Given the description of an element on the screen output the (x, y) to click on. 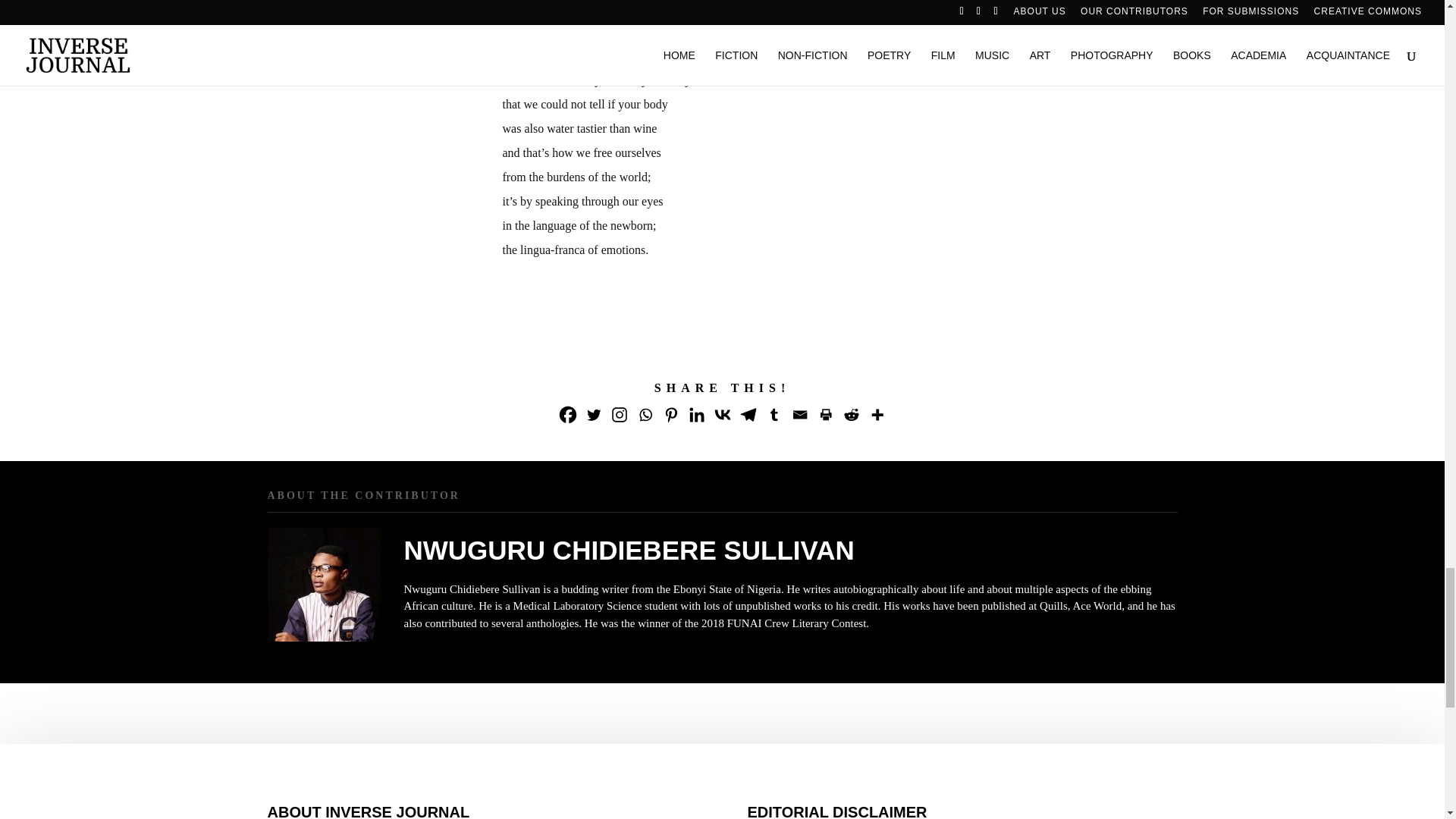
Telegram (748, 414)
Pinterest (670, 414)
Facebook (567, 414)
Whatsapp (644, 414)
Tumblr (774, 414)
Vkontakte (722, 414)
Twitter (593, 414)
Print (825, 414)
Email (799, 414)
Instagram (619, 414)
